Given the description of an element on the screen output the (x, y) to click on. 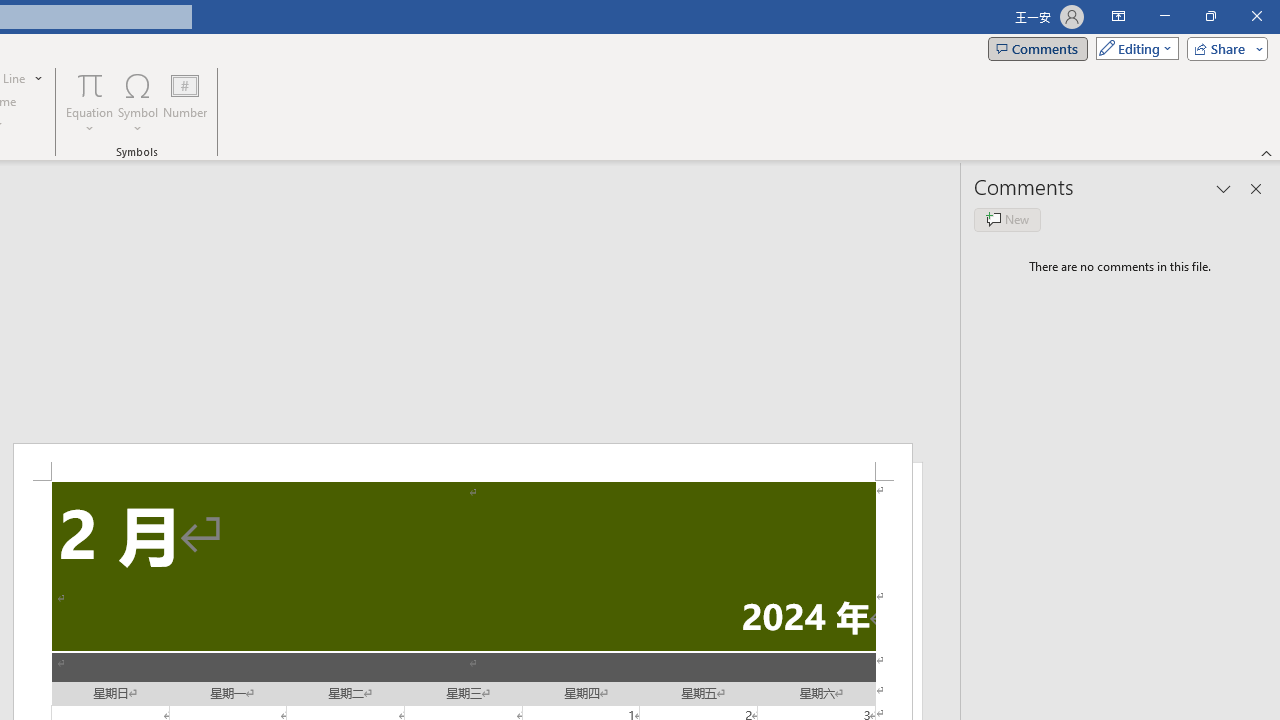
Comments (1038, 48)
Mode (1133, 47)
Close (1256, 16)
Minimize (1164, 16)
